Given the description of an element on the screen output the (x, y) to click on. 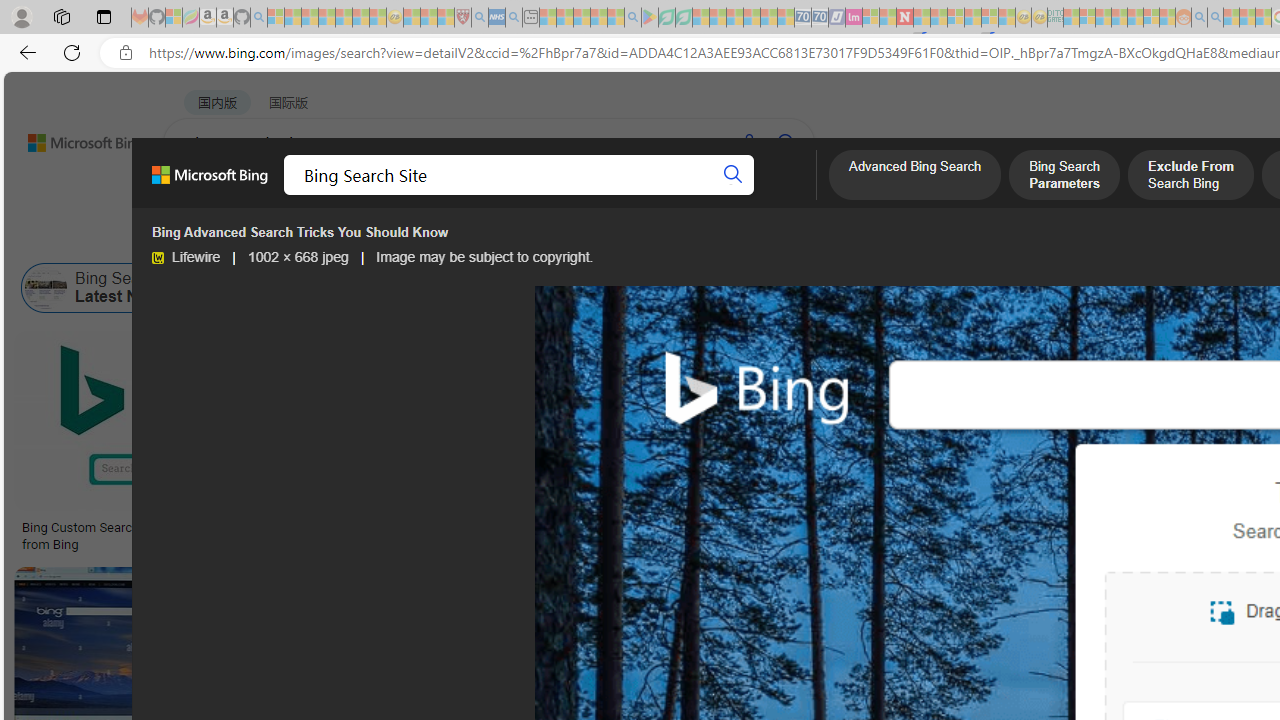
DICT (717, 195)
License (665, 237)
Show Bing Search Engine (889, 287)
Search button (732, 174)
